Given the description of an element on the screen output the (x, y) to click on. 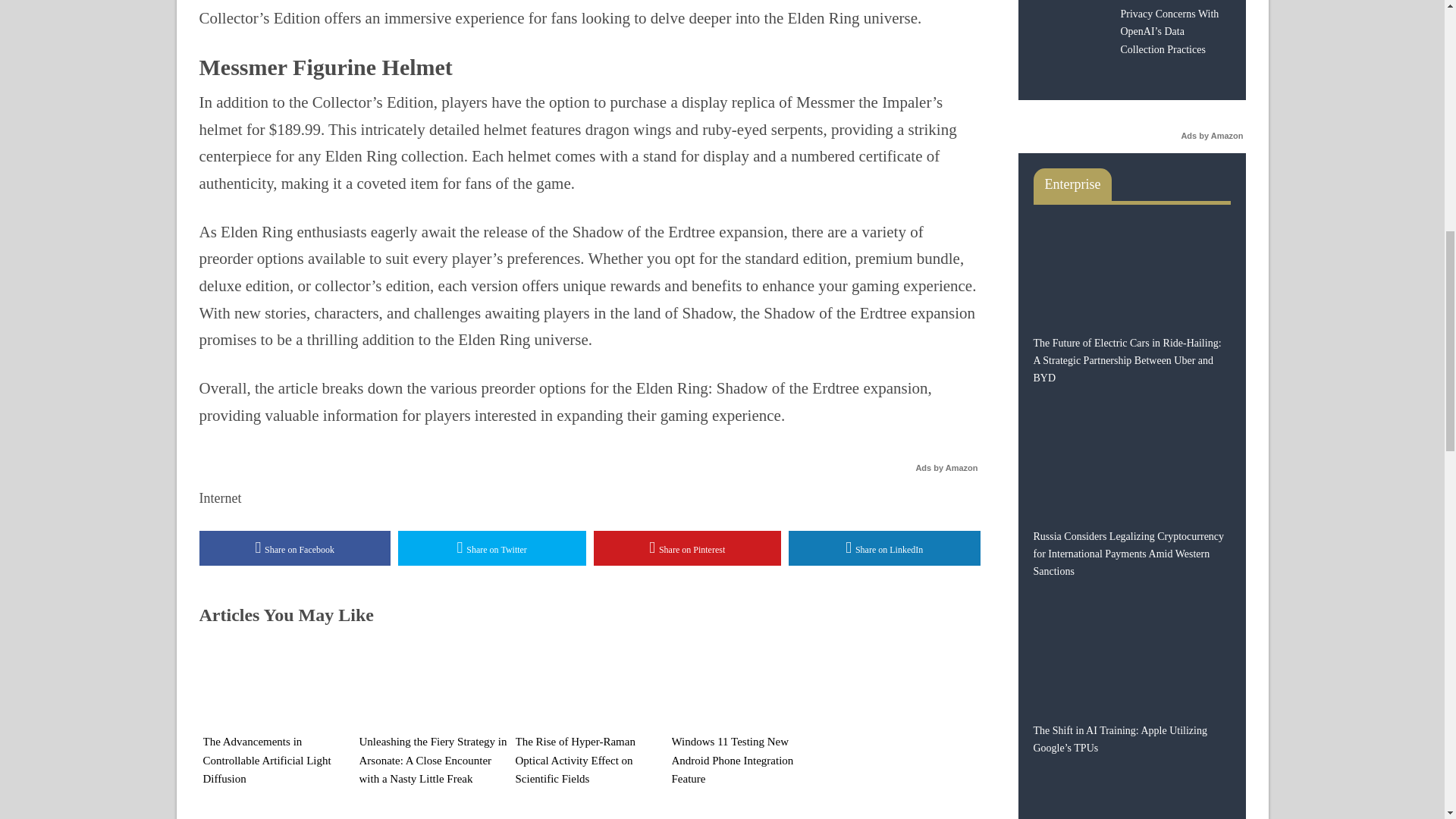
Internet (219, 498)
